Given the description of an element on the screen output the (x, y) to click on. 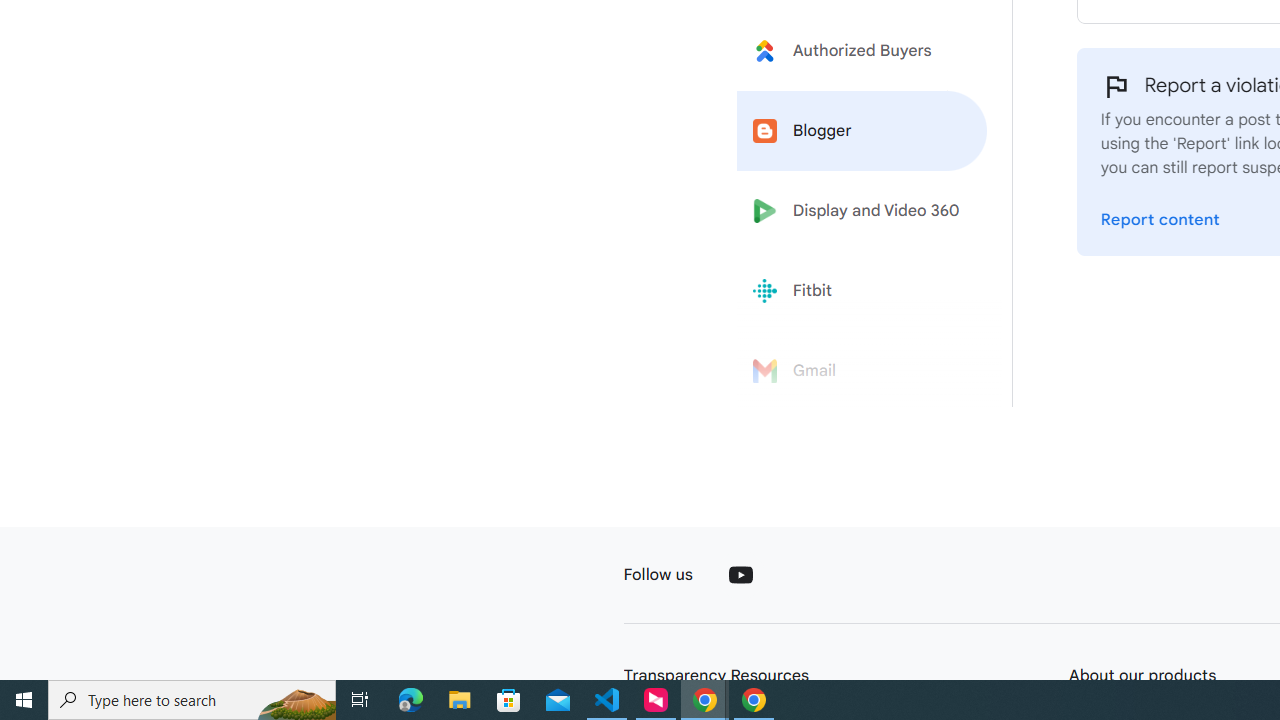
Type here to search (191, 699)
Fitbit (862, 291)
YouTube (740, 574)
Microsoft Store (509, 699)
Google Chrome - 1 running window (754, 699)
Report a violation on the Blogger Report page (1159, 219)
Display and Video 360 (862, 211)
Blogger (862, 130)
Microsoft Edge (411, 699)
Gmail (862, 371)
